Given the description of an element on the screen output the (x, y) to click on. 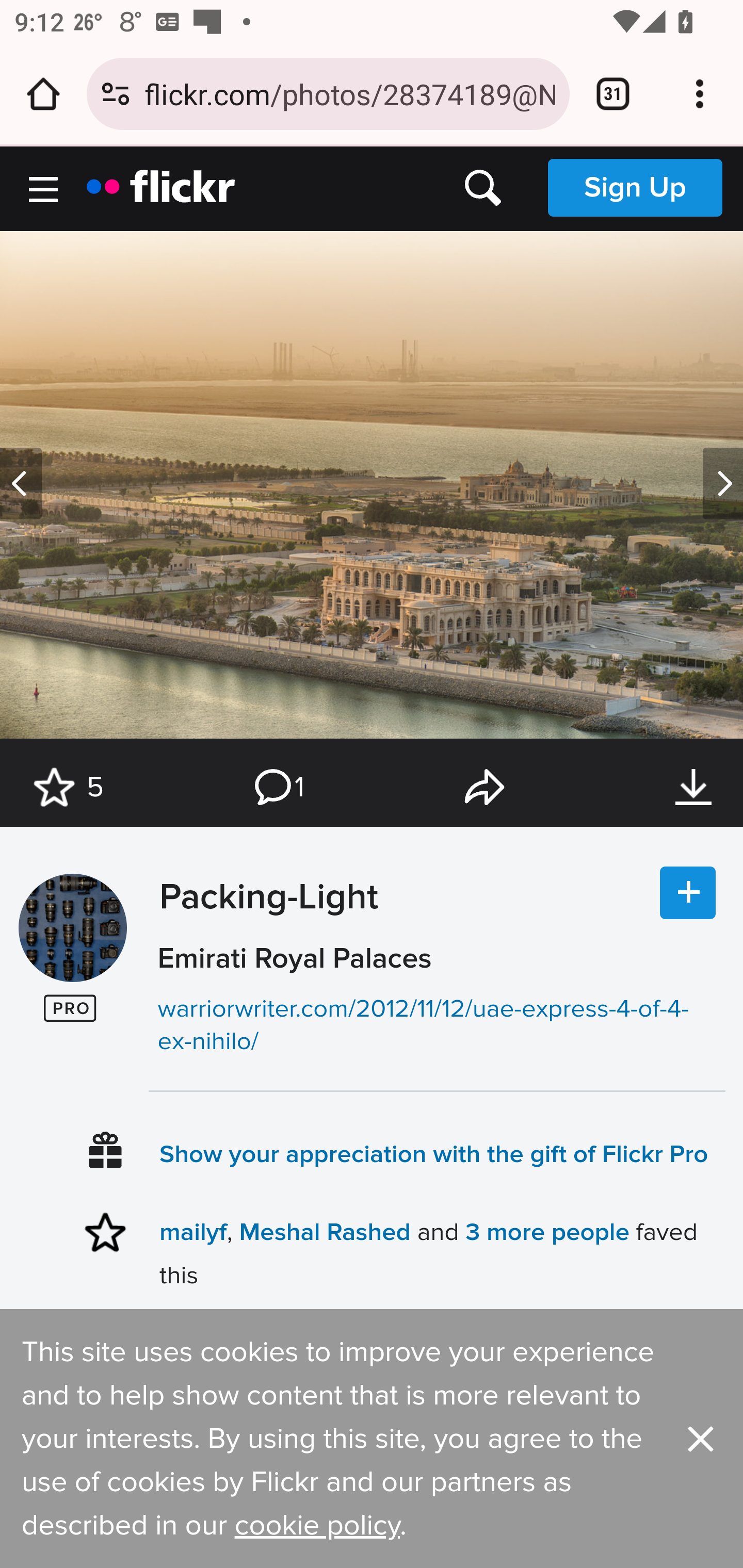
Open the home page (43, 93)
Connection is secure (115, 93)
Switch or close tabs (612, 93)
Customize and control Google Chrome (699, 93)
flickr.com/photos/28374189@N06/8180345851 (349, 92)
Sign Up Sign Up Sign Up (634, 187)
1 (277, 787)
Download this photo (692, 787)
Follow (687, 893)
isaacpacheco (72, 928)
Show your appreciation with the gift of Flickr Pro (434, 1152)
mailyf (193, 1232)
Meshal Rashed (324, 1232)
3 more people (546, 1232)
